Given the description of an element on the screen output the (x, y) to click on. 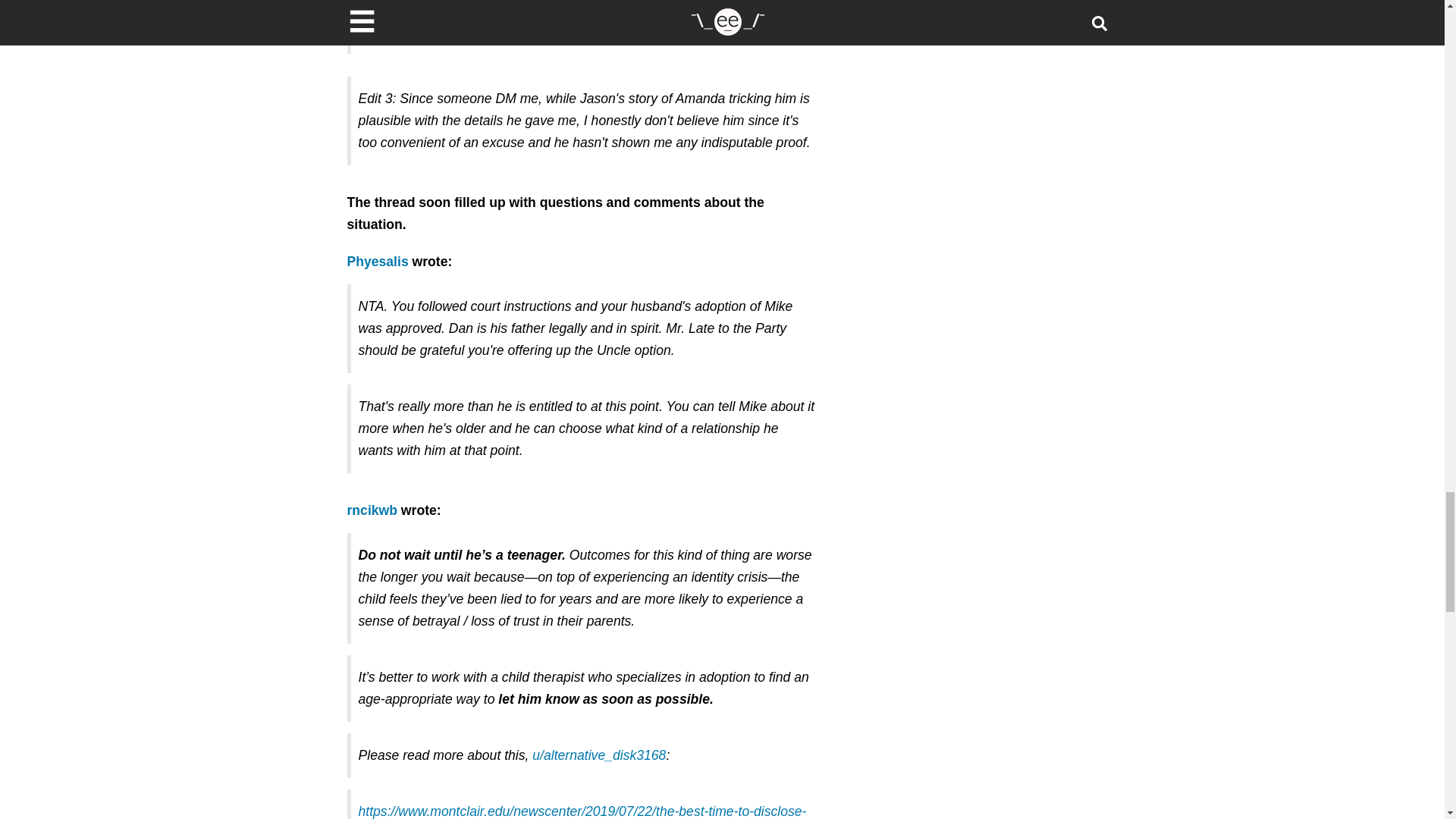
rncikwb (372, 509)
Phyesalis (378, 261)
